Given the description of an element on the screen output the (x, y) to click on. 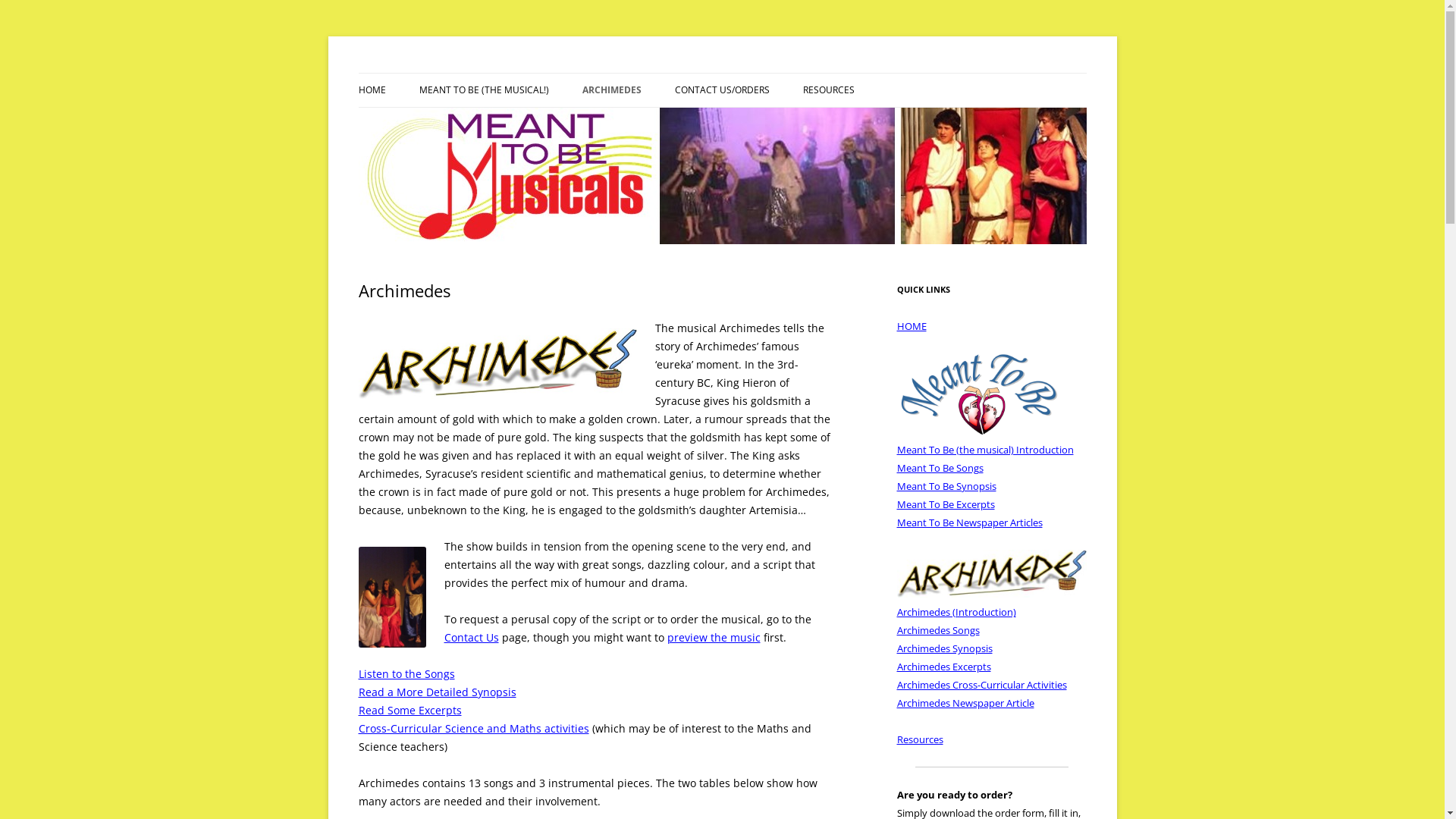
Archimedes Synopsis Element type: text (943, 648)
ARCHIMEDES Element type: text (611, 89)
HOME Element type: text (910, 325)
Contact Us Element type: text (471, 637)
Read a More Detailed Synopsis Element type: text (436, 691)
RESOURCES Element type: text (827, 89)
Meant To Be Synopsis Element type: text (945, 485)
Skip to content Element type: text (759, 77)
Archimedes Excerpts Element type: text (943, 666)
Meant To Be (the musical) Introduction Element type: text (984, 449)
MEANT TO BE (THE MUSICAL!) Element type: text (494, 122)
Meant To Be Excerpts Element type: text (945, 504)
Archimedes Newspaper Article Element type: text (964, 702)
Resources Element type: text (919, 739)
MEANT TO BE (THE MUSICAL!) Element type: text (483, 89)
Listen to the Songs Element type: text (405, 673)
Archimedes Songs Element type: text (937, 630)
Meant To Be Musicals Element type: text (464, 72)
Archimedes Cross-Curricular Activities Element type: text (981, 684)
Meant To Be Newspaper Articles Element type: text (968, 522)
CONTACT US/ORDERS Element type: text (721, 89)
Cross-Curricular Science and Maths activities Element type: text (472, 728)
Archimedes (Introduction) Element type: text (955, 611)
Read Some Excerpts Element type: text (409, 709)
ARCHIMEDES (INTRODUCTION) Element type: text (658, 122)
HOME Element type: text (371, 89)
Meant To Be Songs Element type: text (939, 467)
preview the music Element type: text (713, 637)
